Given the description of an element on the screen output the (x, y) to click on. 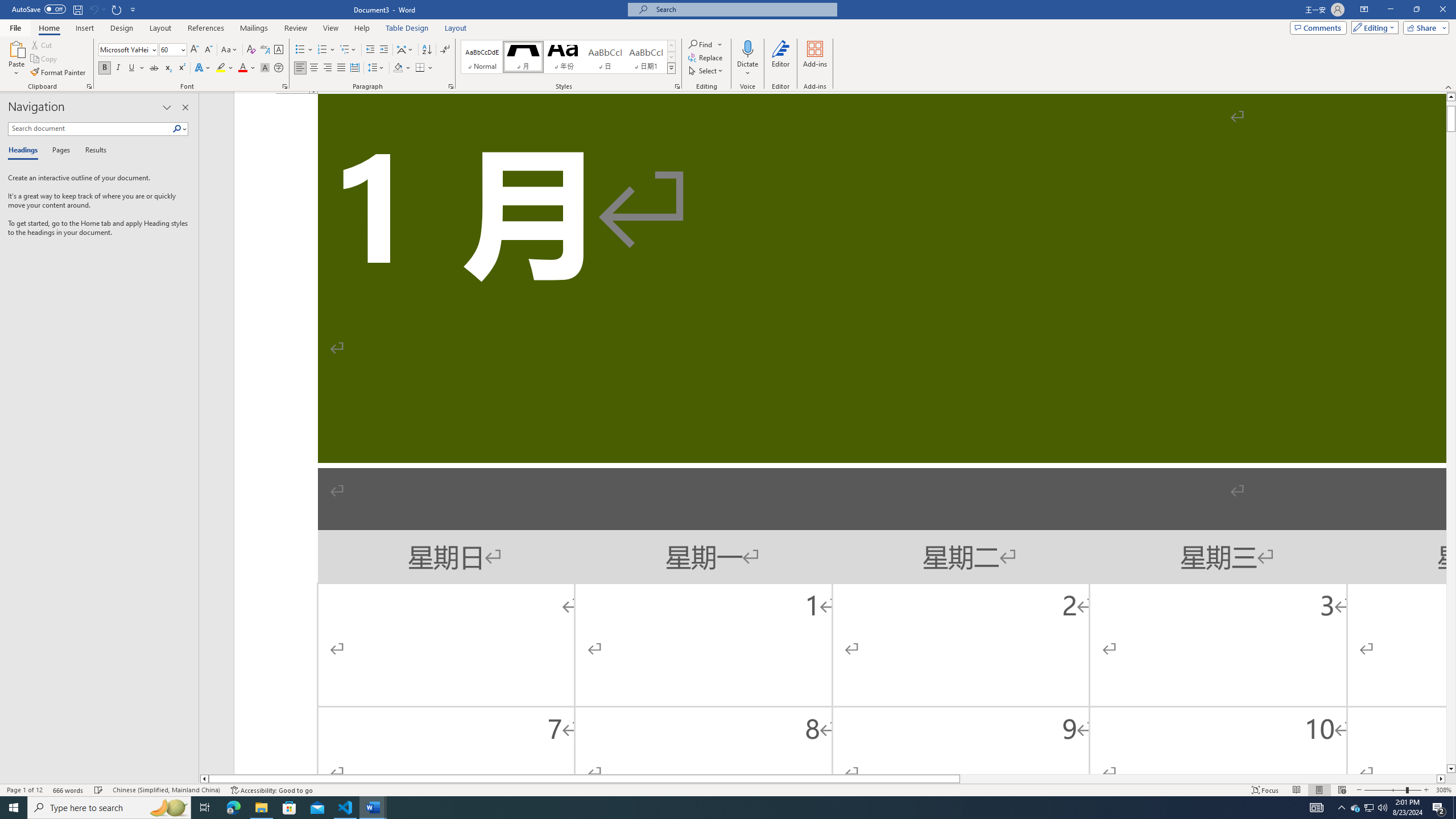
Repeat Doc Close (117, 9)
